Given the description of an element on the screen output the (x, y) to click on. 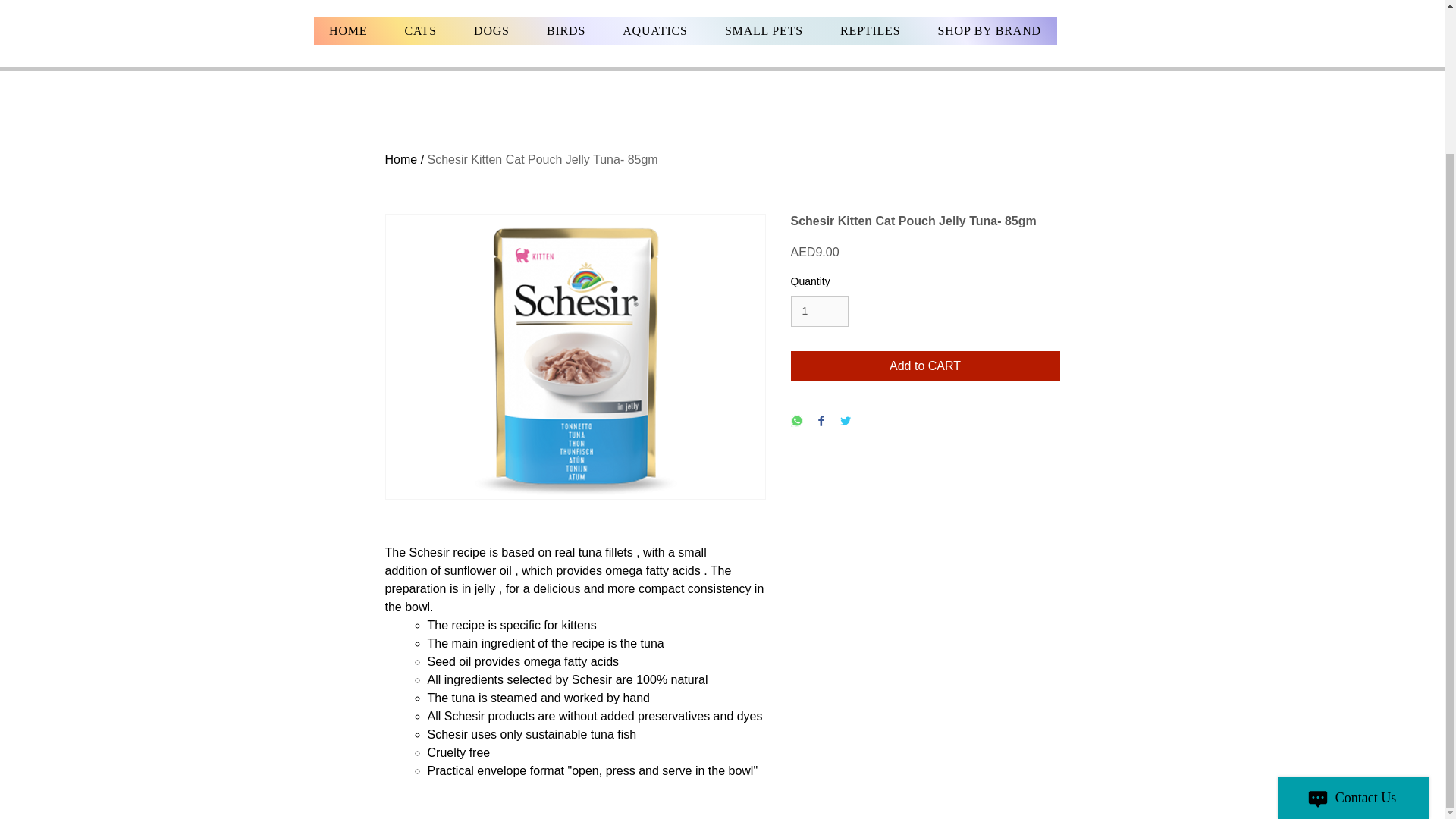
HOME (348, 30)
CATS (419, 30)
DOGS (491, 30)
BIRDS (565, 30)
1 (818, 310)
